Given the description of an element on the screen output the (x, y) to click on. 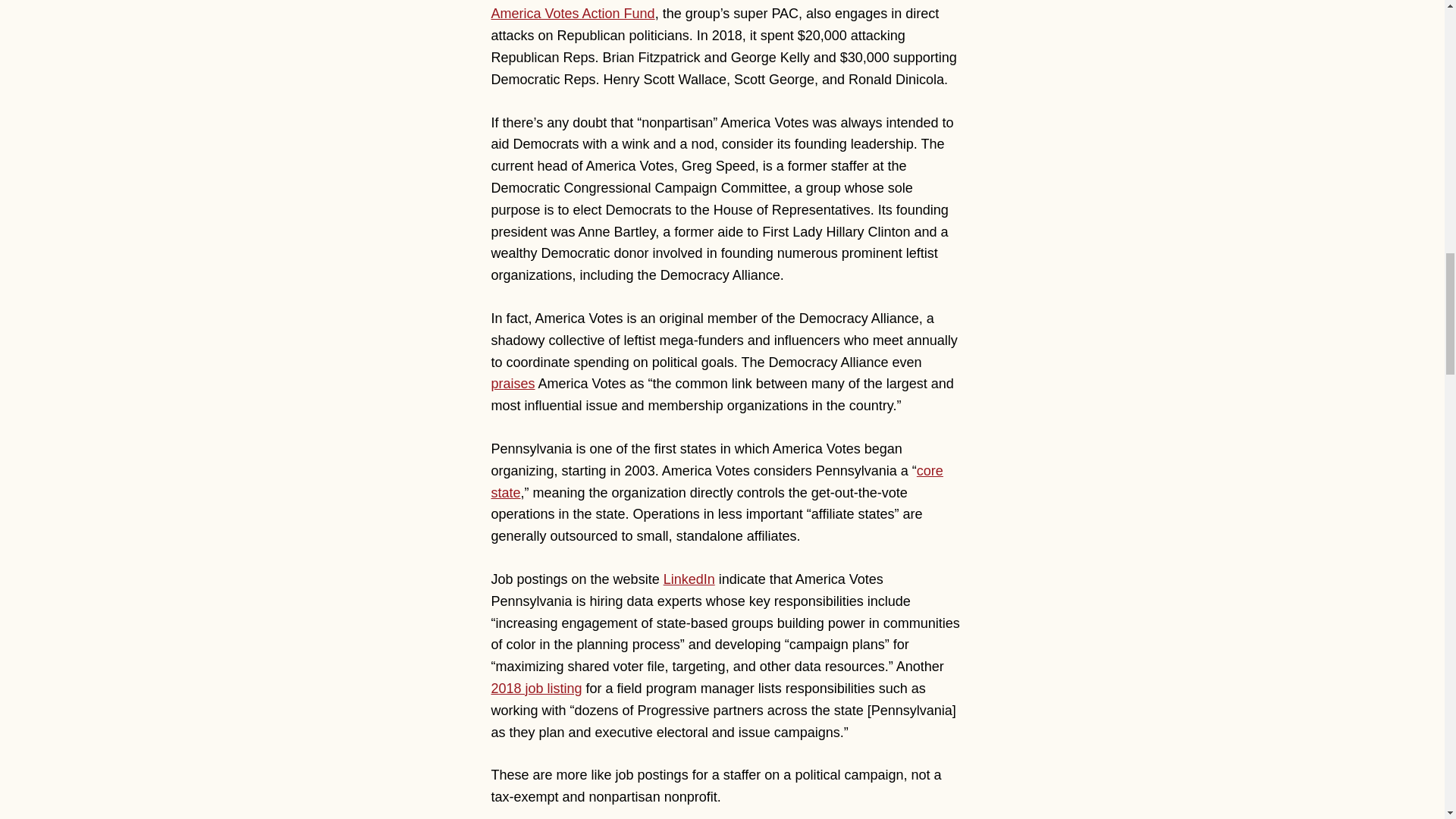
praises (513, 383)
America Votes Action Fund (573, 13)
2018 job listing (537, 688)
LinkedIn (688, 579)
core state (717, 481)
